Given the description of an element on the screen output the (x, y) to click on. 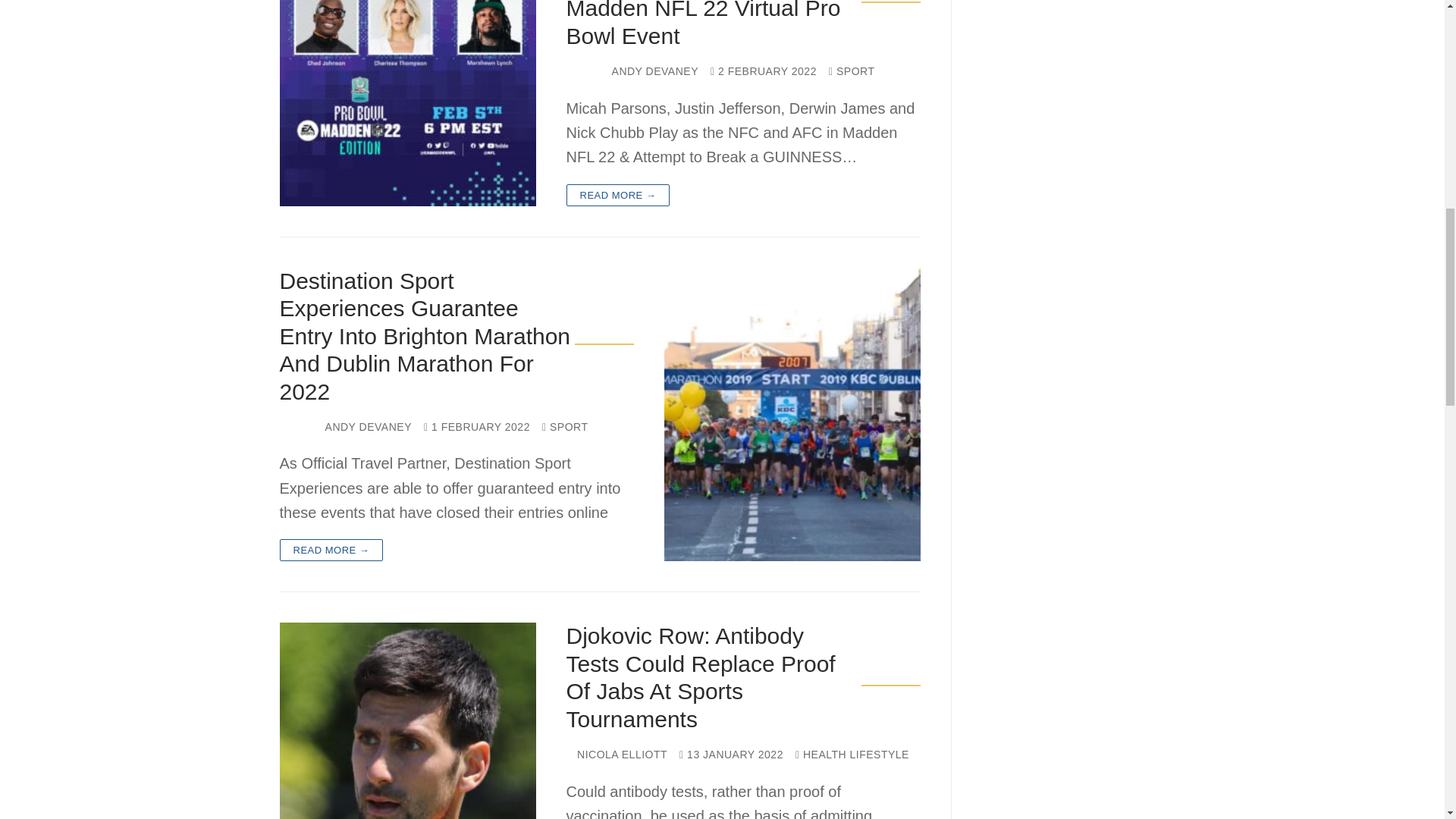
2 FEBRUARY 2022 (763, 70)
ANDY DEVANEY (654, 70)
